Given the description of an element on the screen output the (x, y) to click on. 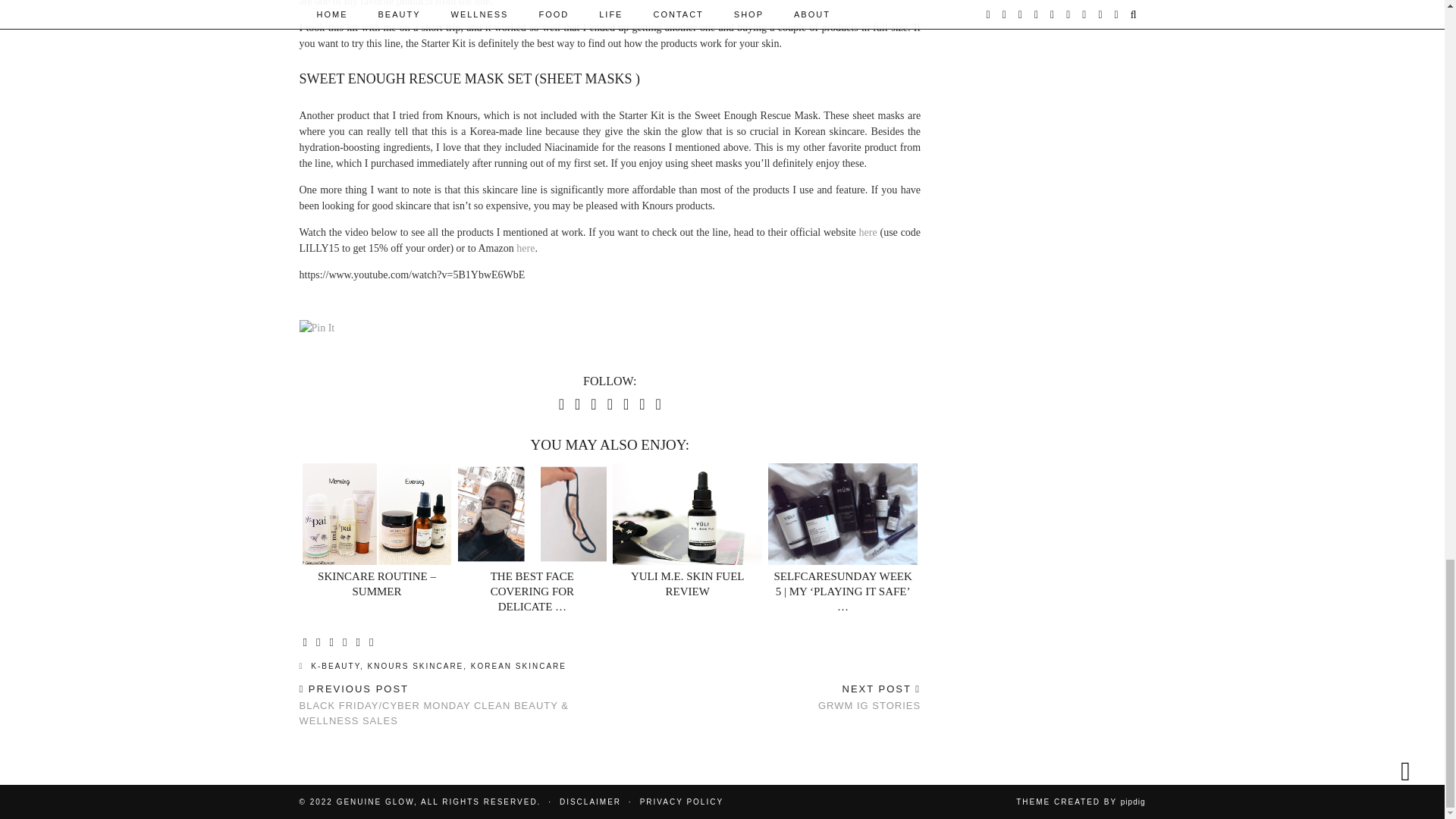
here (868, 232)
here (525, 247)
Pin It (316, 327)
